Given the description of an element on the screen output the (x, y) to click on. 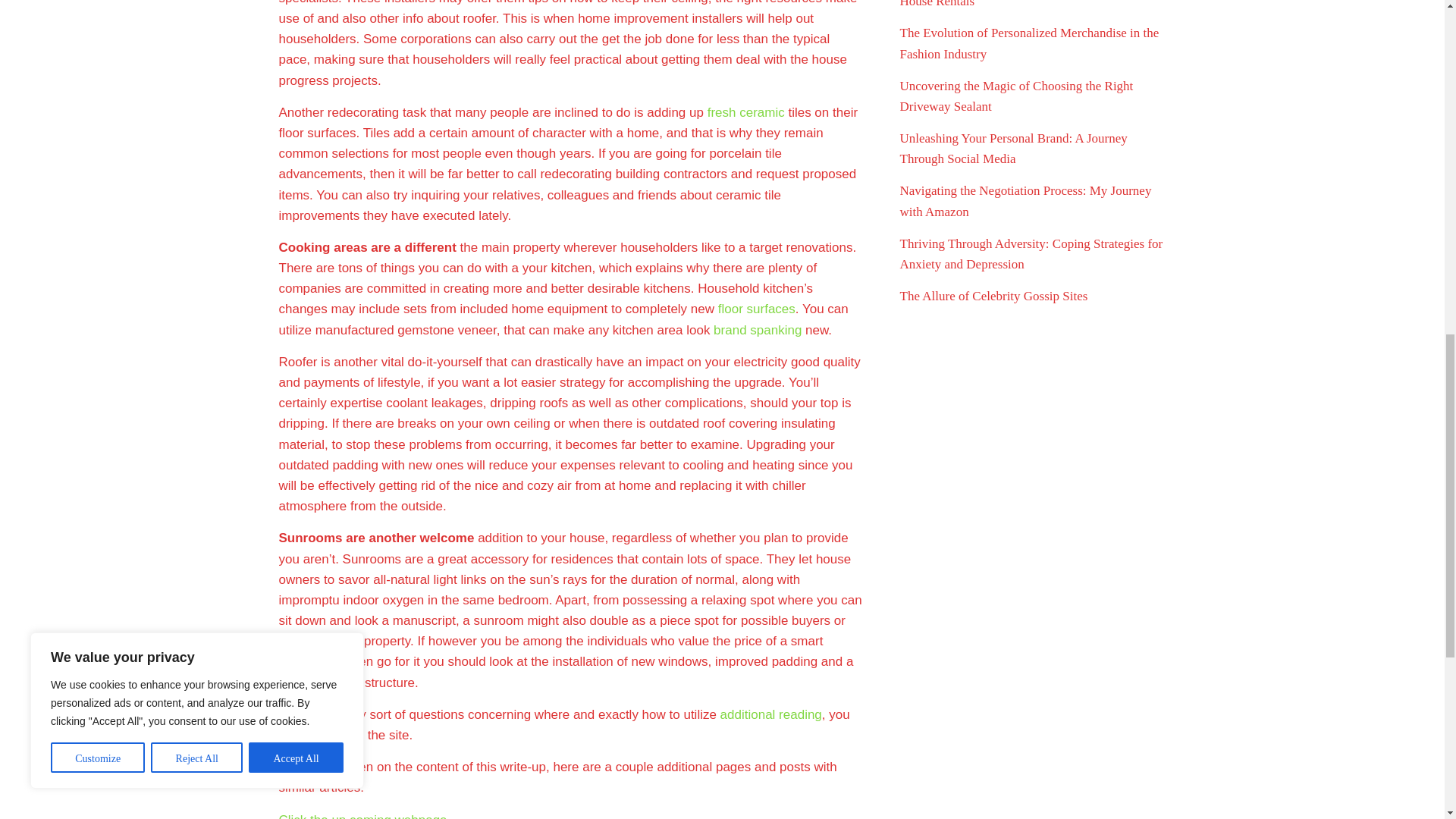
additional reading (771, 714)
brand spanking (757, 329)
Click the up coming webpage (362, 816)
floor surfaces (755, 309)
fresh ceramic (745, 112)
